Given the description of an element on the screen output the (x, y) to click on. 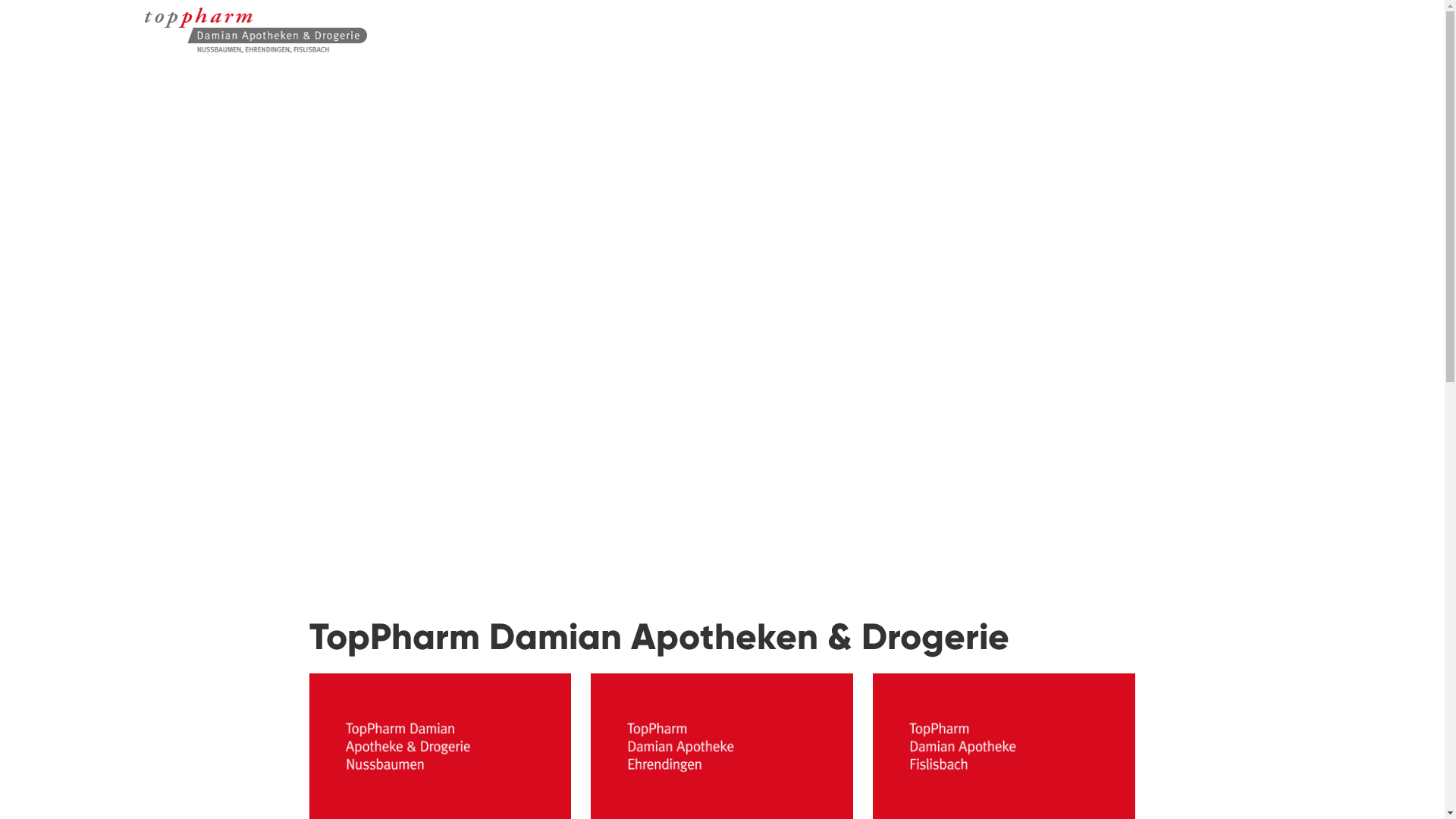
TopPharm Damian Apotheke & Drogerie - Nussbaumen Element type: text (184, 39)
